Given the description of an element on the screen output the (x, y) to click on. 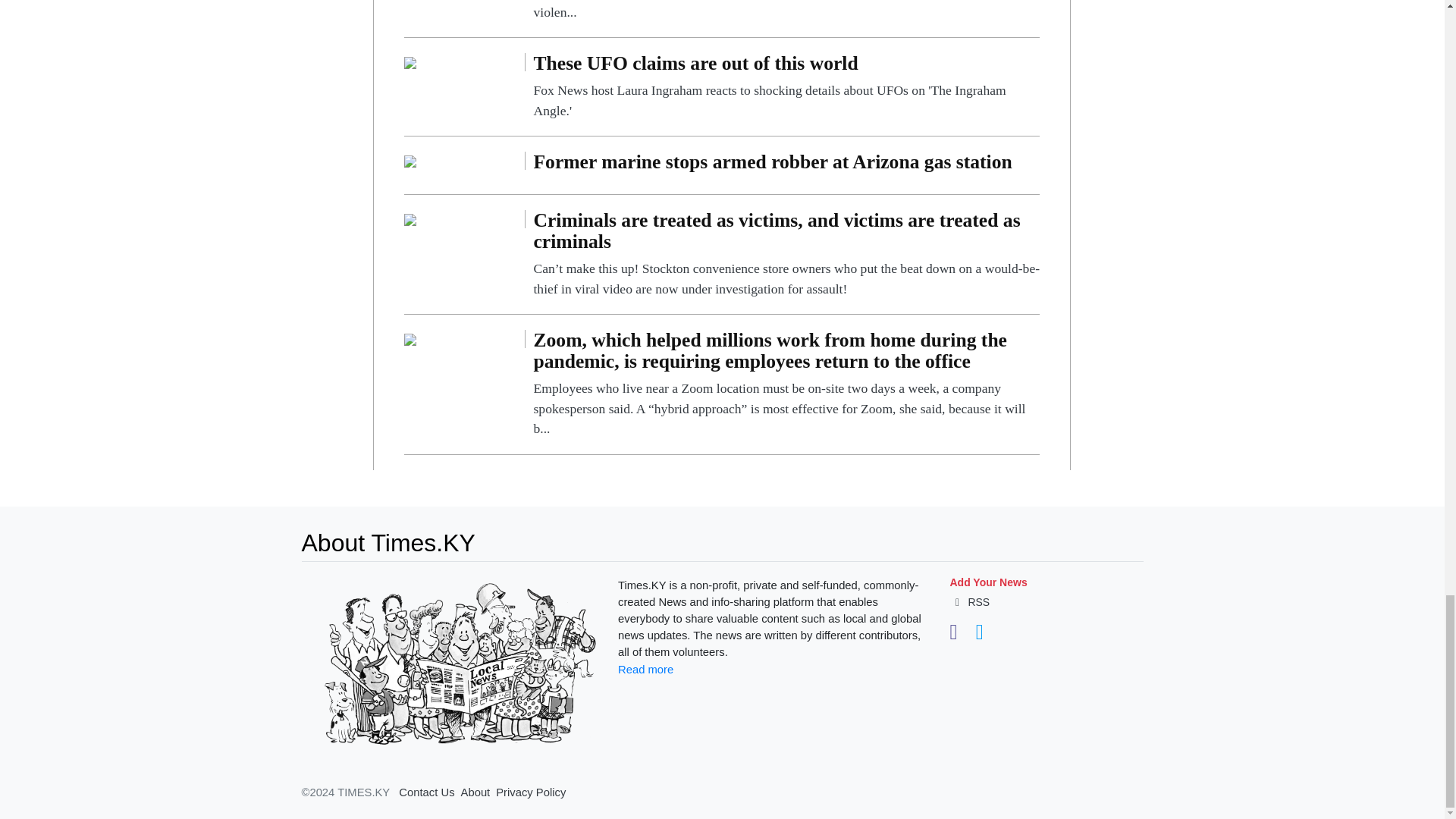
Former marine stops armed robber at Arizona gas station (785, 165)
Former marine stops armed robber at Arizona gas station (785, 165)
These UFO claims are out of this world (785, 86)
Former marine stops armed robber at Arizona gas station (410, 160)
These UFO claims are out of this world (410, 61)
